Given the description of an element on the screen output the (x, y) to click on. 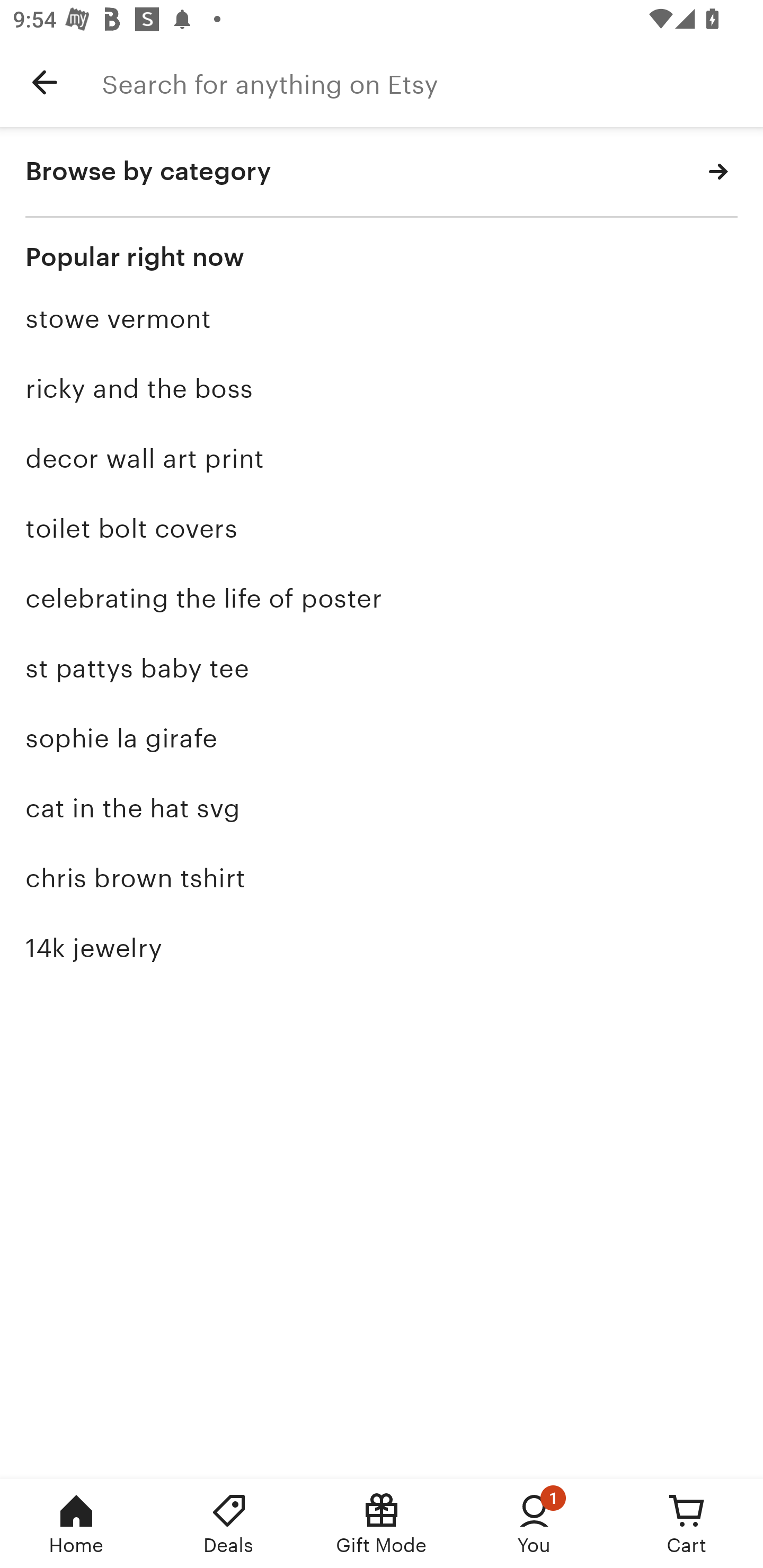
Navigate up (44, 82)
Search for anything on Etsy (432, 82)
Browse by category (381, 172)
stowe vermont (381, 318)
ricky and the boss (381, 388)
decor wall art print (381, 458)
toilet bolt covers (381, 527)
celebrating the life of poster (381, 597)
st pattys baby tee (381, 668)
sophie la girafe (381, 738)
cat in the hat svg (381, 808)
chris brown tshirt (381, 877)
14k jewelry (381, 947)
Deals (228, 1523)
Gift Mode (381, 1523)
You, 1 new notification You (533, 1523)
Cart (686, 1523)
